Given the description of an element on the screen output the (x, y) to click on. 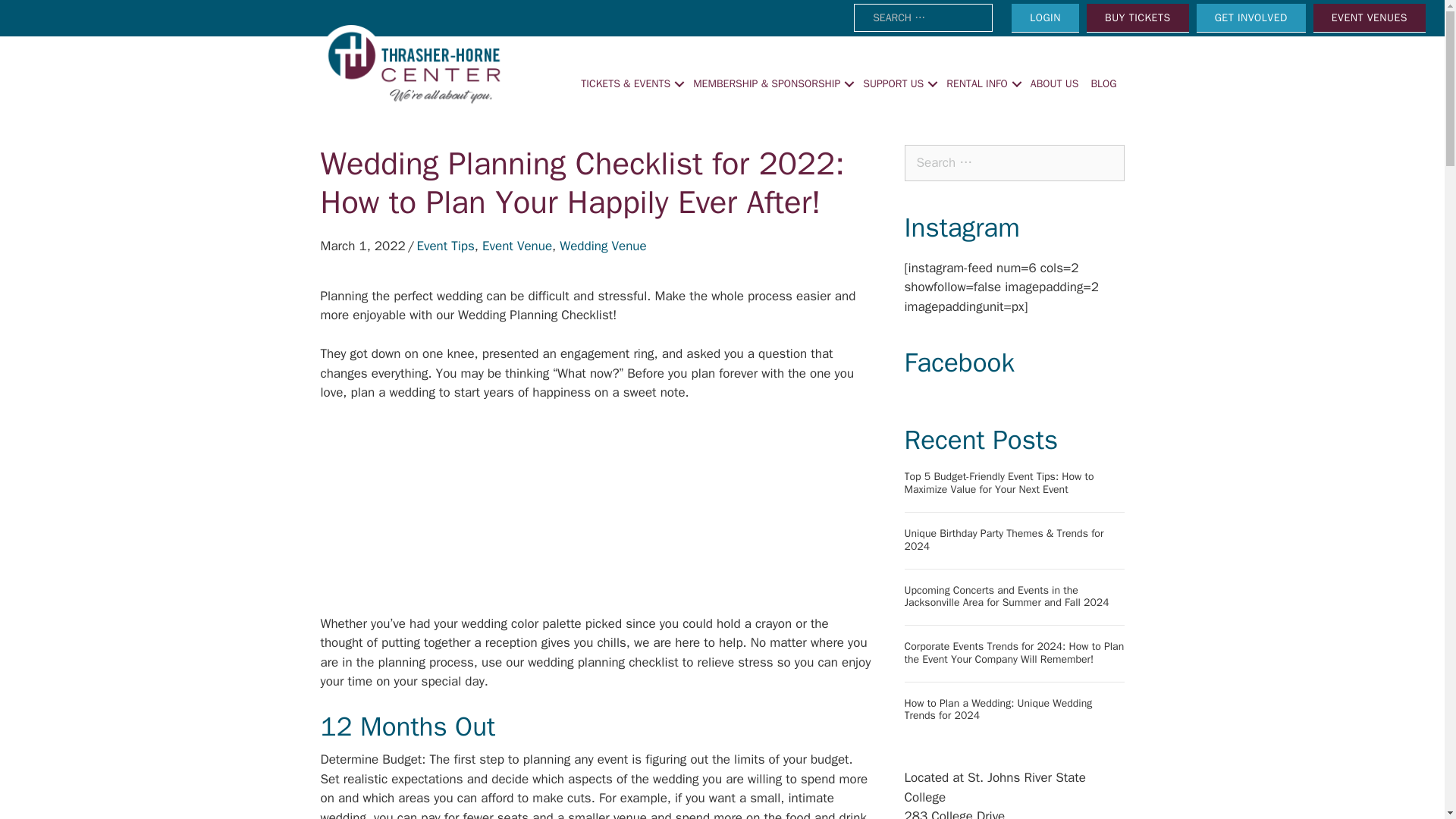
Event Tips (445, 245)
How to Plan a Wedding: Unique Wedding Trends for 2024 (998, 709)
EVENT VENUES (1369, 18)
Event Venue (516, 245)
SUPPORT US (900, 83)
logo-min (413, 67)
BUY TICKETS (1137, 18)
Search for: (922, 17)
